Given the description of an element on the screen output the (x, y) to click on. 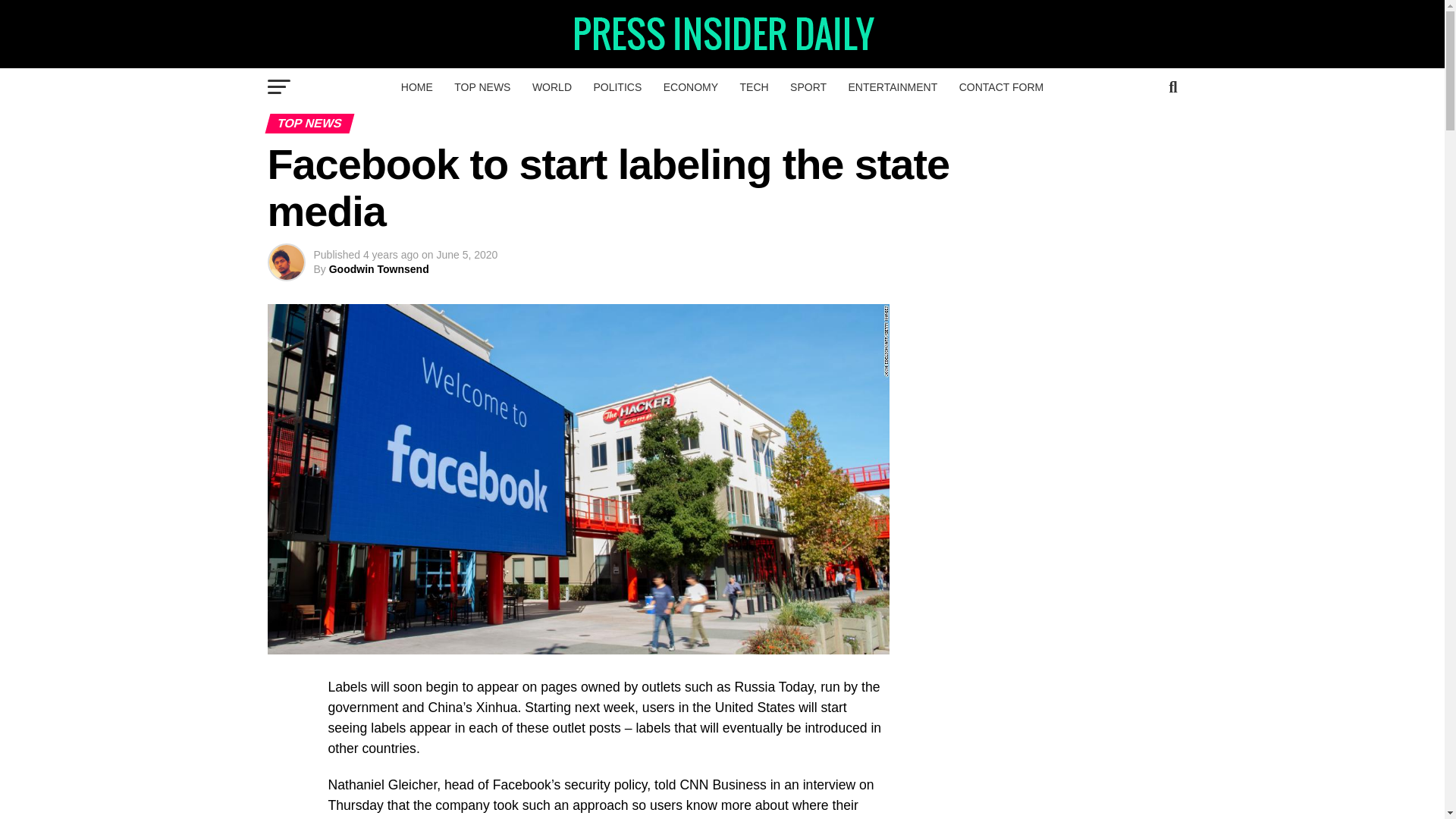
SPORT (807, 86)
Goodwin Townsend (379, 268)
TECH (753, 86)
CONTACT FORM (1001, 86)
Posts by Goodwin Townsend (379, 268)
POLITICS (616, 86)
ECONOMY (689, 86)
WORLD (551, 86)
TOP NEWS (482, 86)
HOME (416, 86)
ENTERTAINMENT (893, 86)
